Given the description of an element on the screen output the (x, y) to click on. 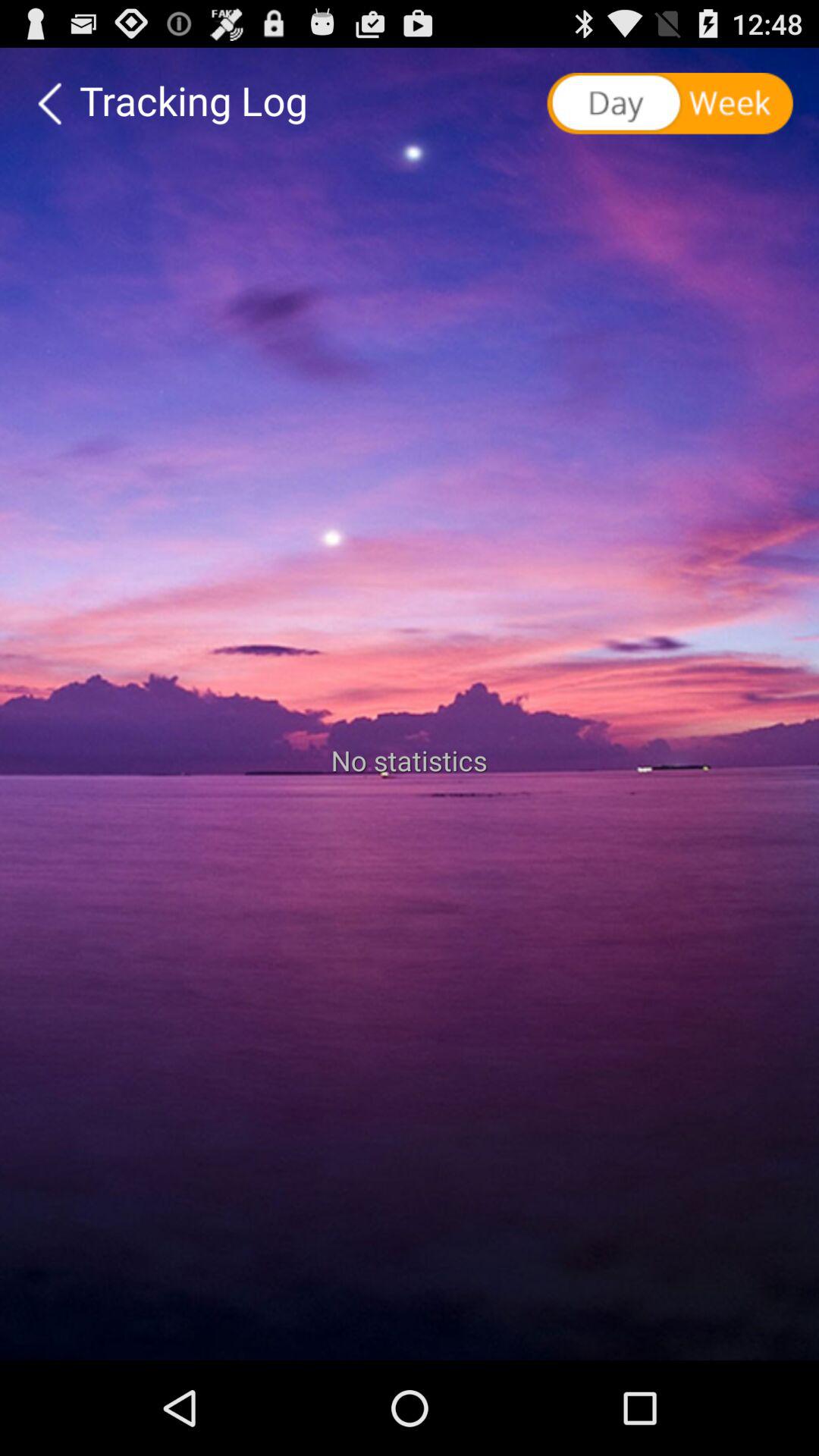
shows day week option (672, 103)
